Given the description of an element on the screen output the (x, y) to click on. 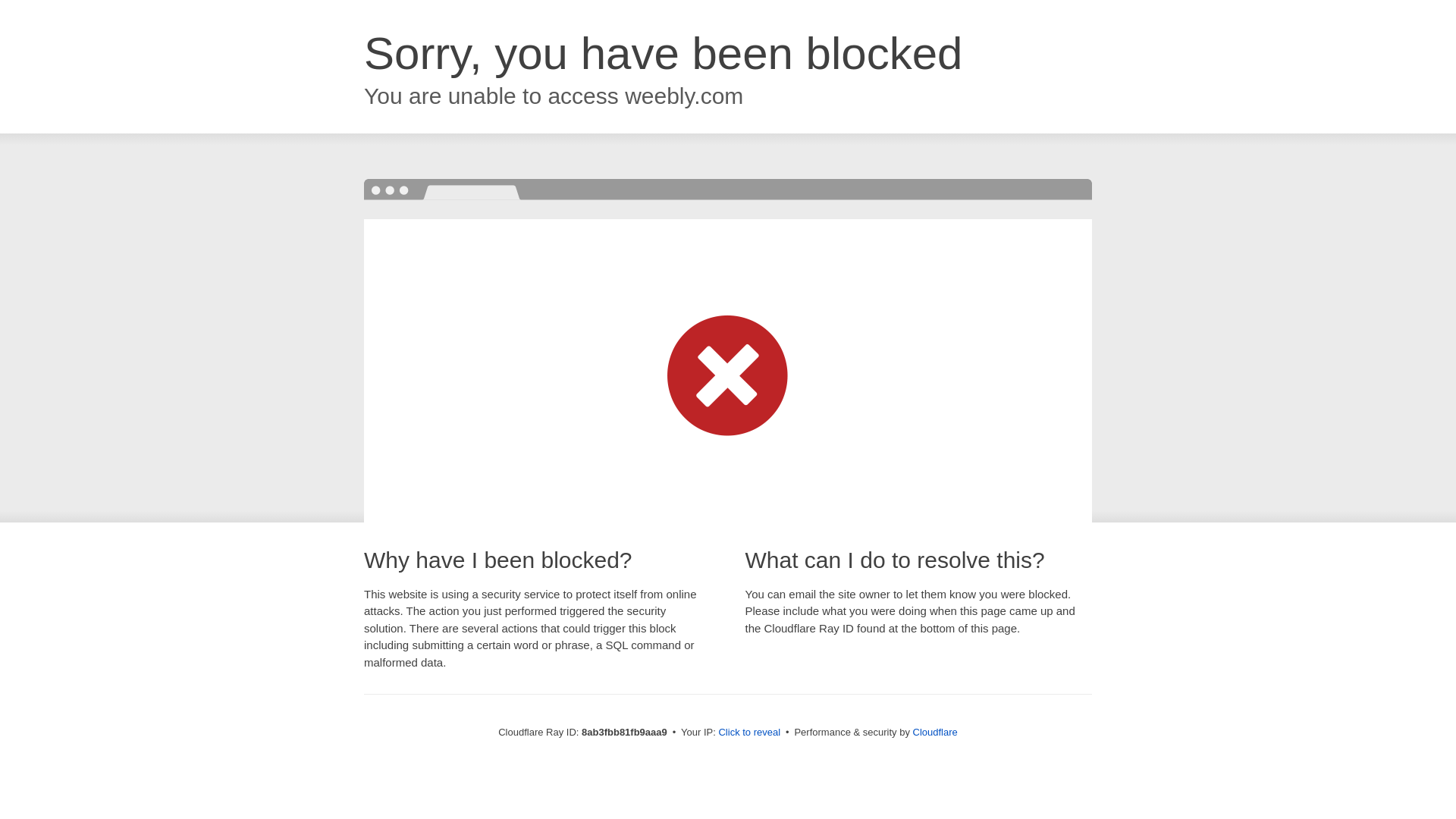
Cloudflare (935, 731)
Click to reveal (748, 732)
